Given the description of an element on the screen output the (x, y) to click on. 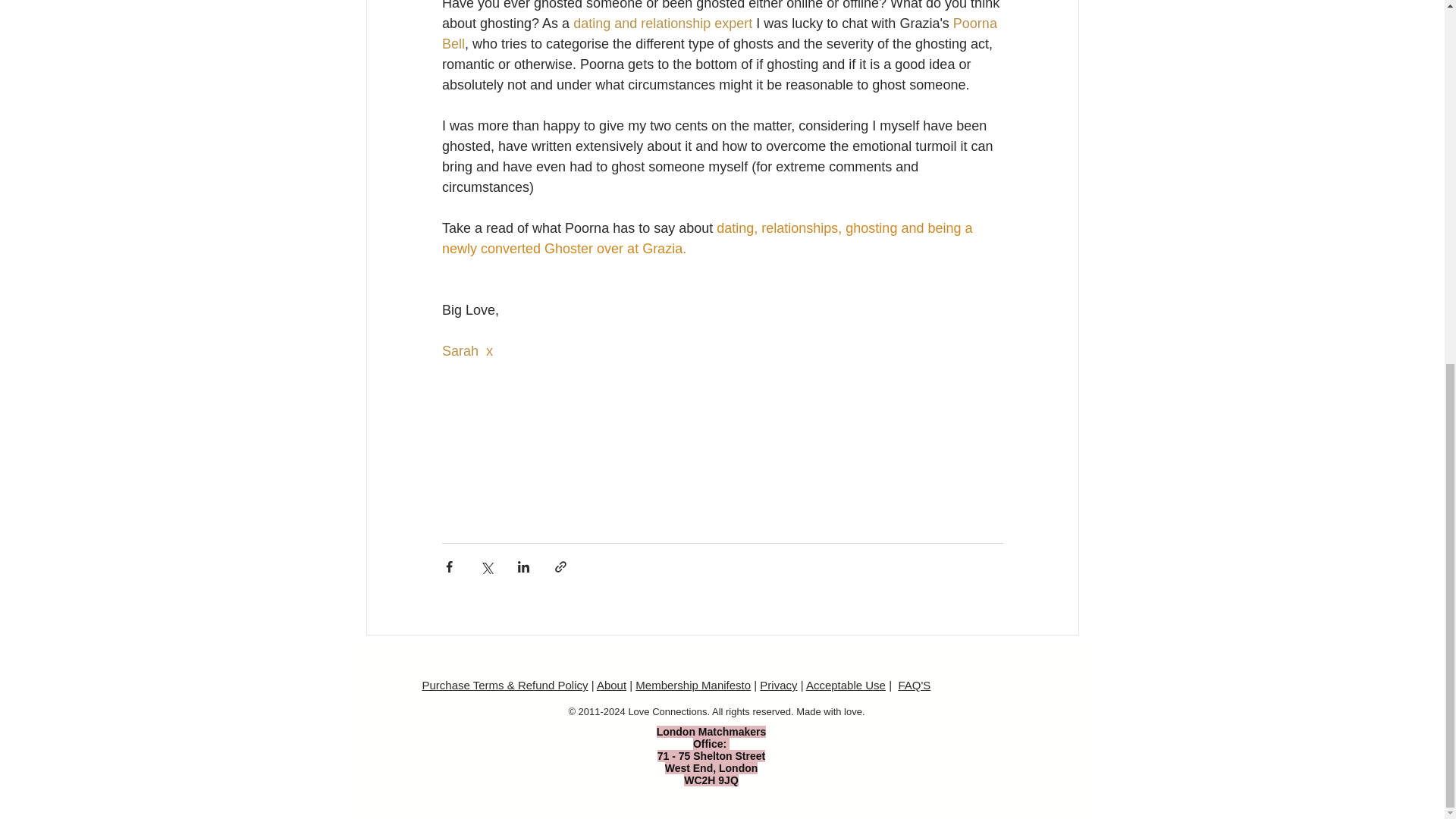
FAQ'S (914, 684)
London Matchmakers Office:  (711, 737)
Sarah  x (466, 350)
Poorna Bell (720, 33)
Membership Manifesto (692, 684)
About (611, 684)
dating and relationship expert (662, 23)
Privacy (778, 684)
Acceptable Use (845, 684)
